Given the description of an element on the screen output the (x, y) to click on. 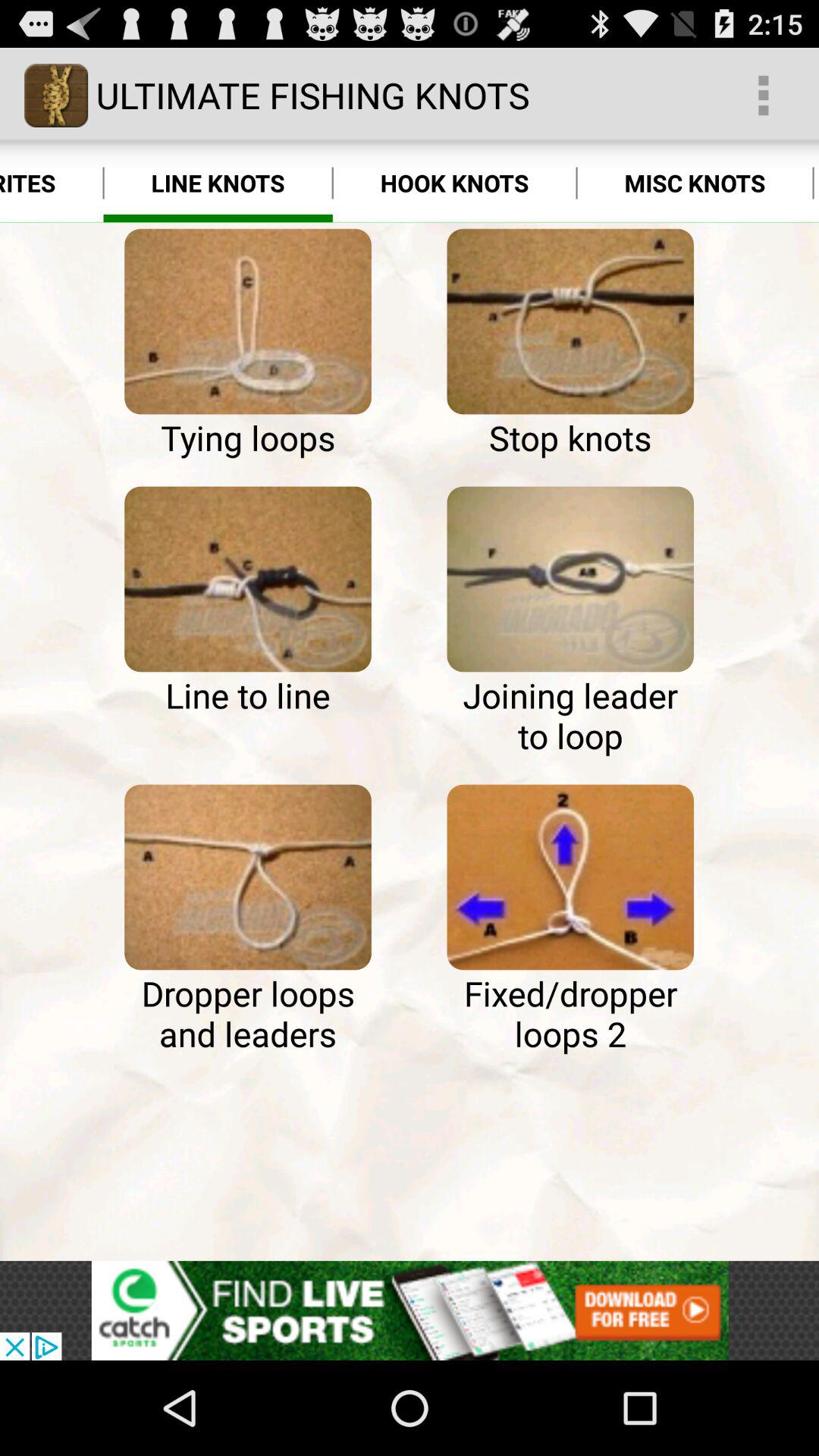
go to dropper loops and leaders instruction (247, 876)
